Given the description of an element on the screen output the (x, y) to click on. 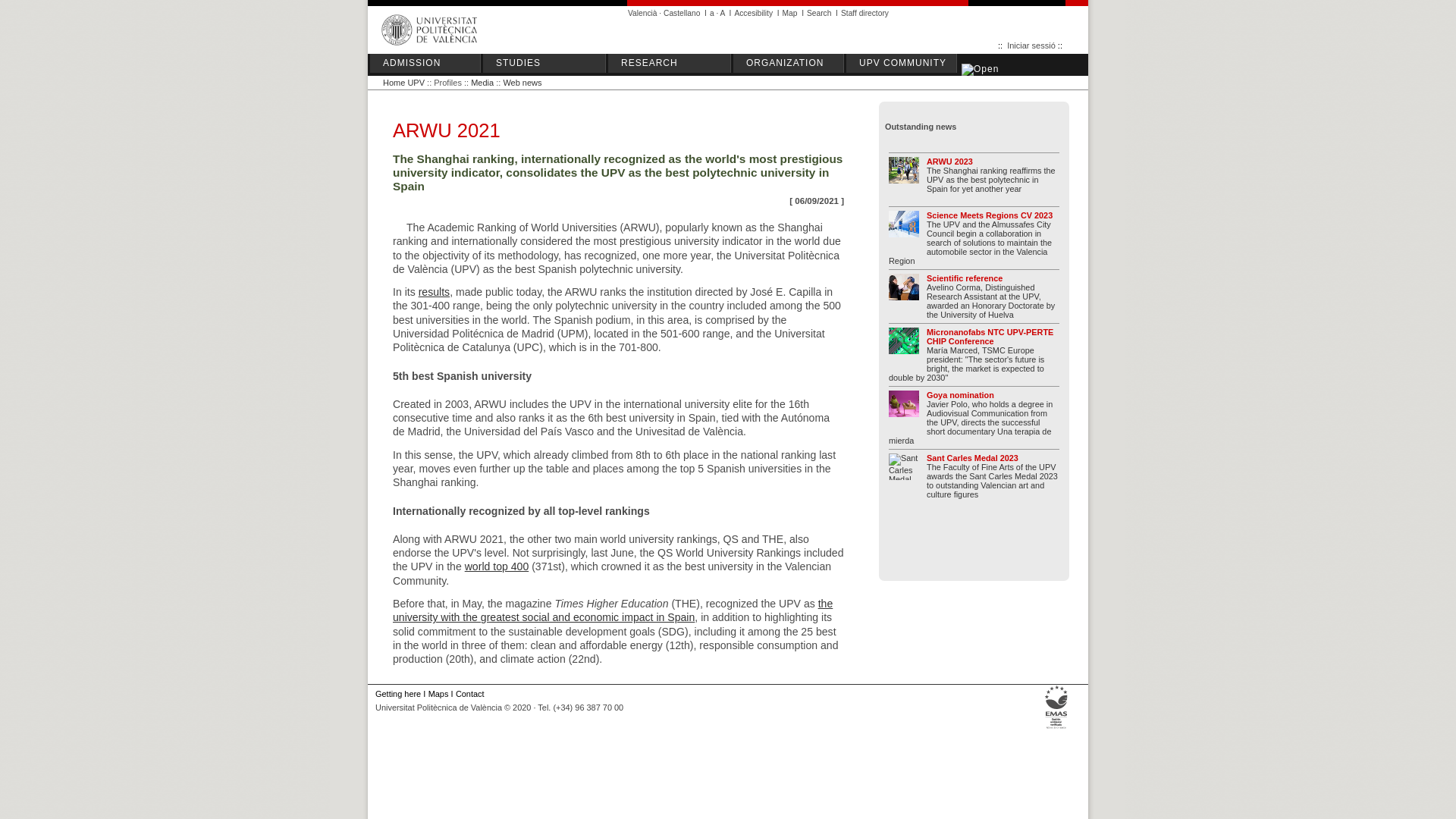
Search (818, 13)
Science Meets Regions CV 2023 (989, 215)
RESEARCH (672, 63)
Directory (864, 13)
ARWU 2023 (907, 175)
Search engine (818, 13)
Accesibility (753, 13)
ARWU 2023 (949, 161)
Staff directory (864, 13)
ORGANIZATION (791, 63)
